Given the description of an element on the screen output the (x, y) to click on. 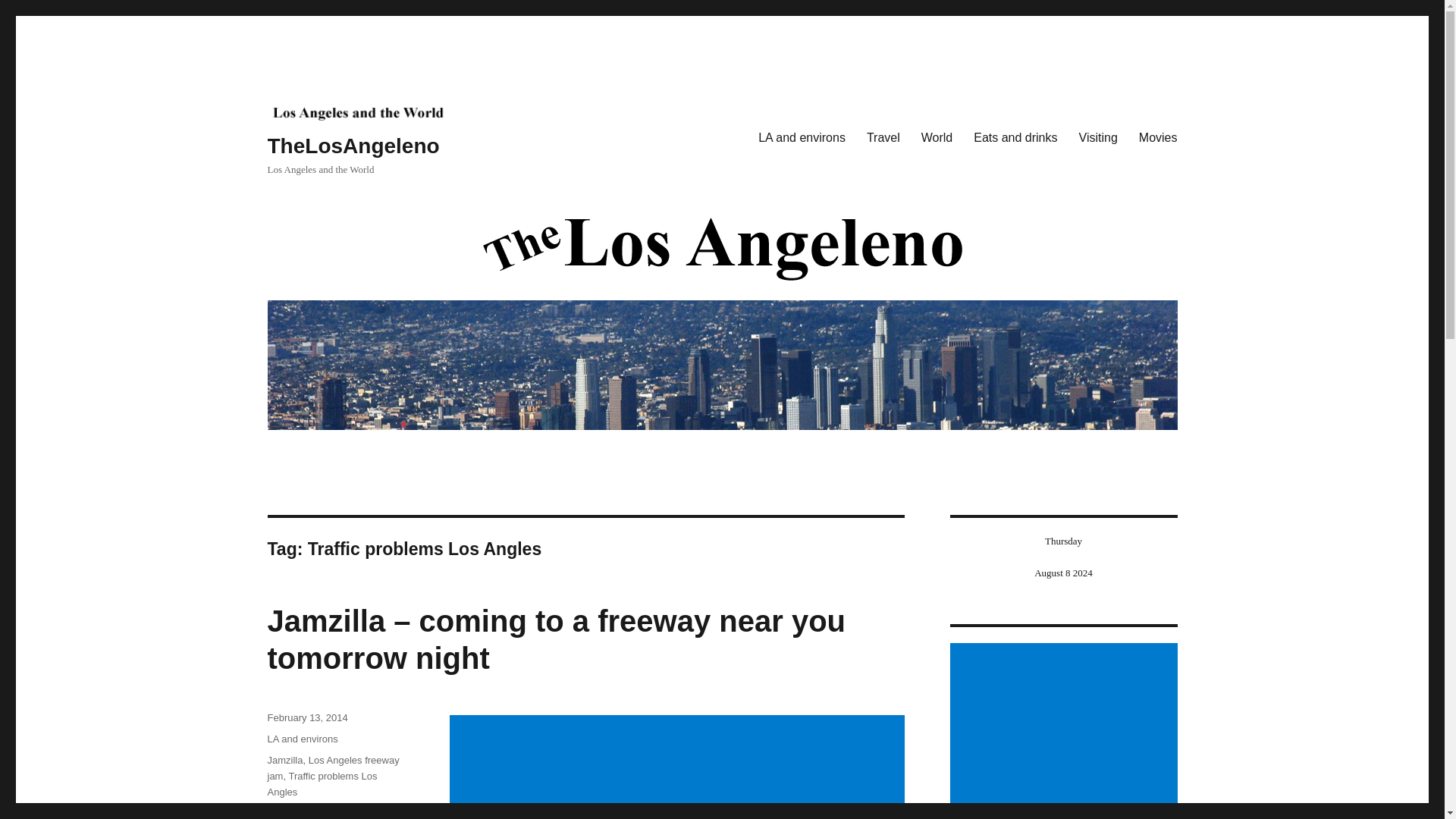
Los Angeles freeway jam (332, 768)
Traffic problems Los Angles (321, 783)
February 13, 2014 (306, 717)
Jamzilla (284, 759)
LA and environs (301, 738)
Movies (1158, 137)
Advertisement (679, 767)
Eats and drinks (1014, 137)
Travel (883, 137)
World (937, 137)
